Given the description of an element on the screen output the (x, y) to click on. 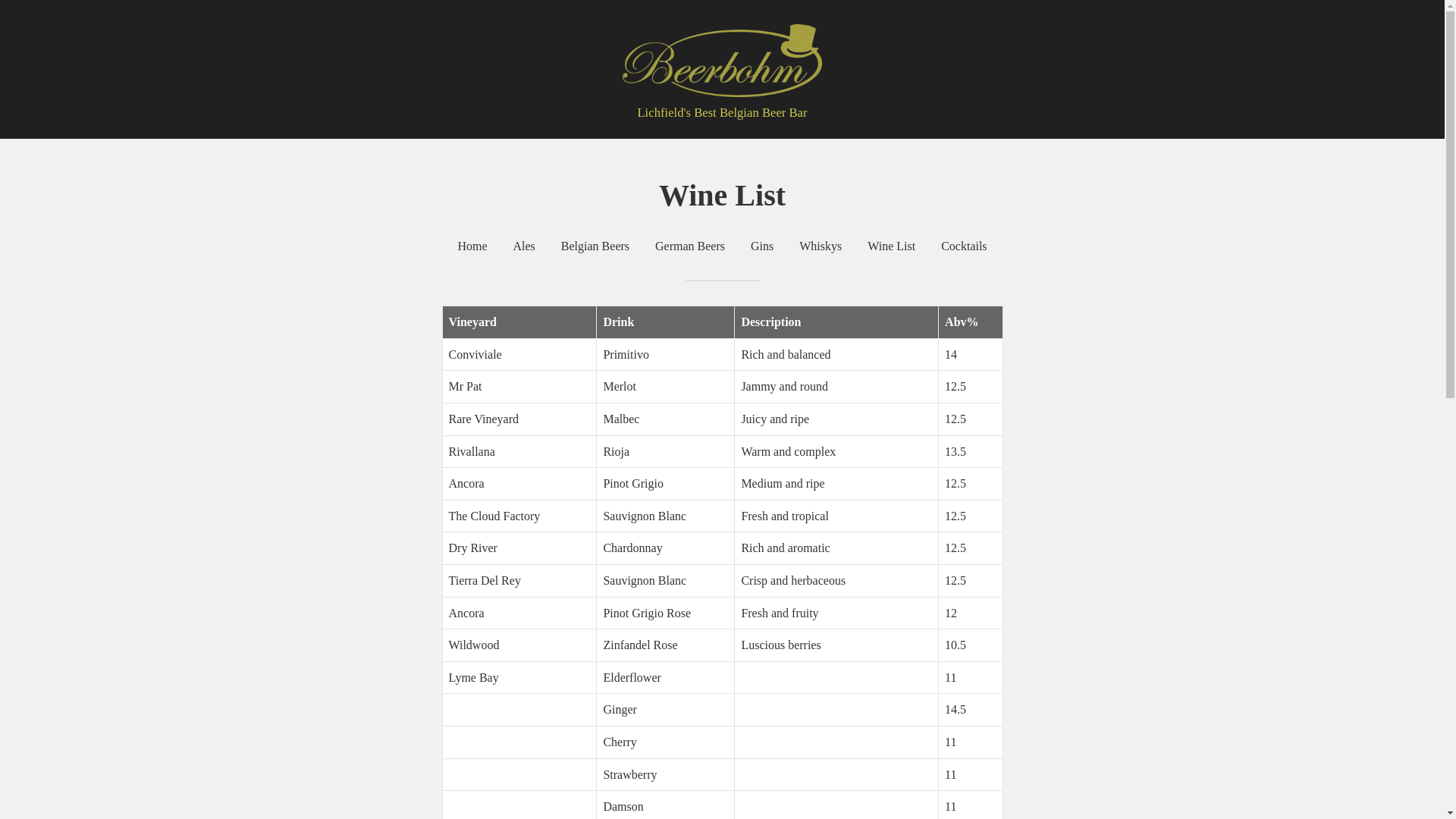
Cocktails Element type: text (963, 246)
Home Element type: text (471, 246)
Belgian Beers Element type: text (595, 246)
German Beers Element type: text (689, 246)
Whiskys Element type: text (820, 246)
Wine List Element type: text (891, 246)
Ales Element type: text (524, 246)
Gins Element type: text (761, 246)
